Given the description of an element on the screen output the (x, y) to click on. 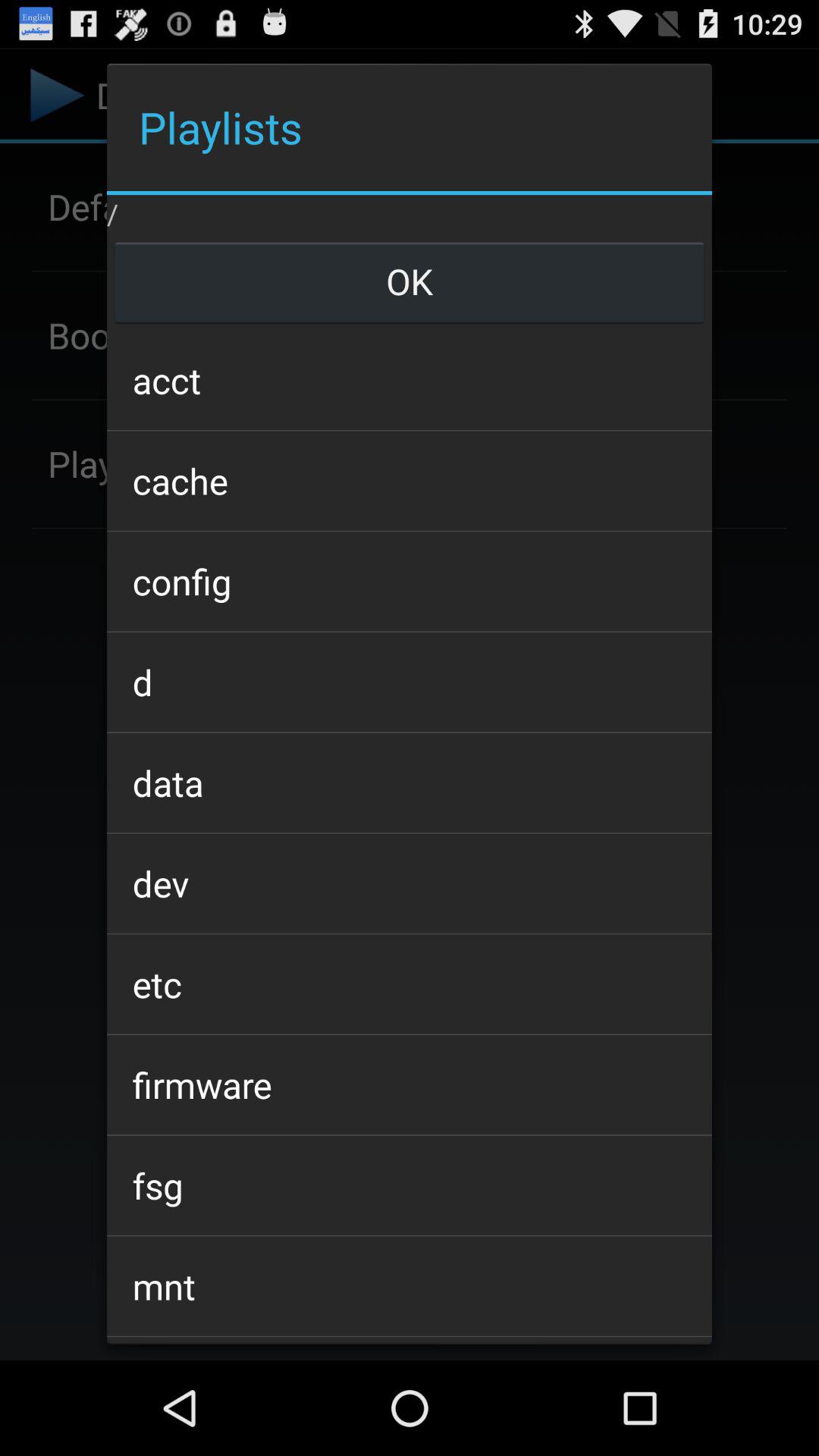
open dev icon (409, 883)
